Given the description of an element on the screen output the (x, y) to click on. 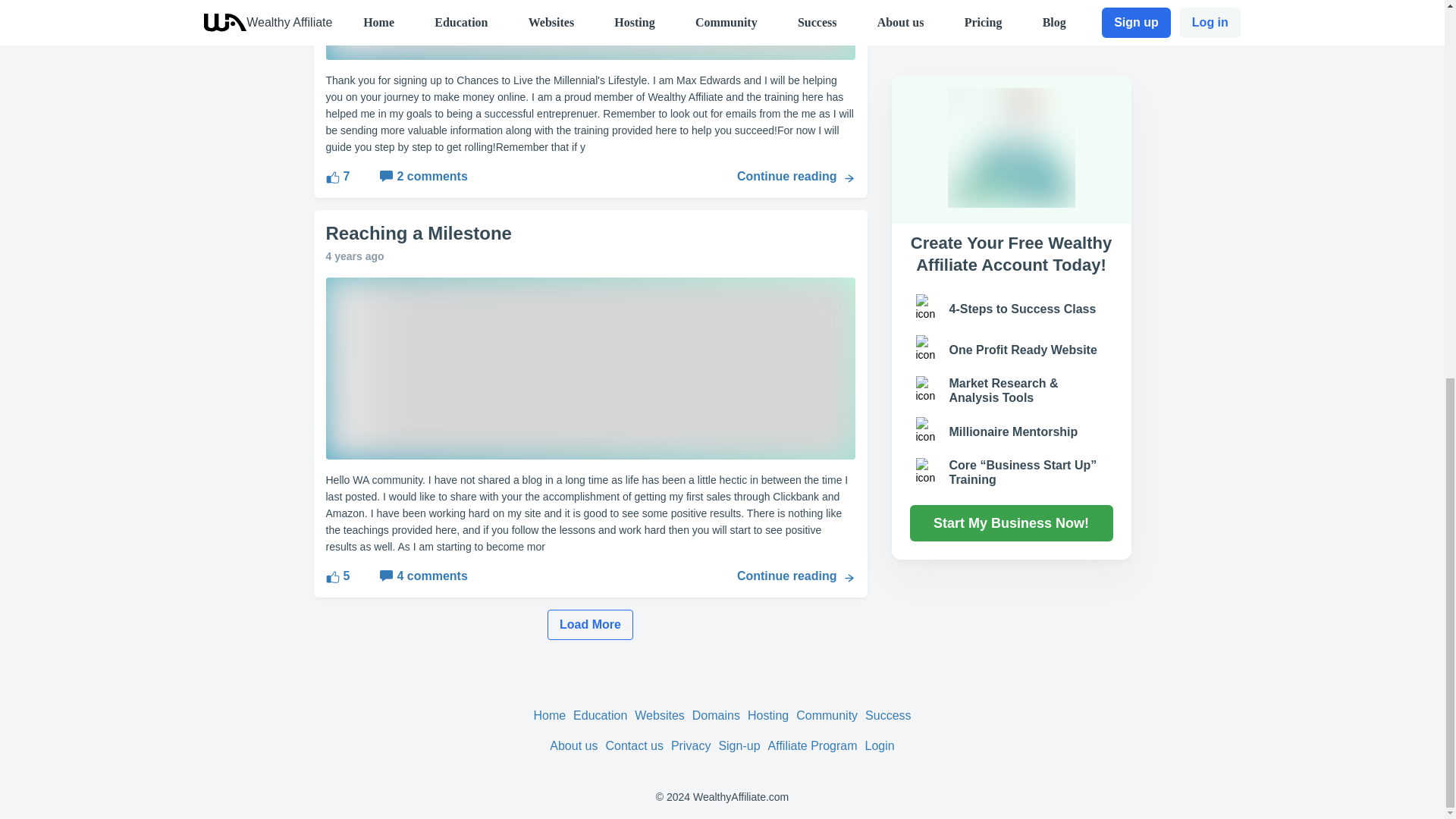
Domains (716, 715)
Reaching a Milestone (591, 232)
Home (549, 715)
Tue, 09 Jun 2020 23:07:18 GMT (355, 256)
Load More (590, 624)
Continue reading (796, 176)
5 (338, 576)
Education (600, 715)
4 comments (408, 576)
7 (338, 176)
Continue reading (796, 576)
2 comments (408, 176)
Websites (659, 715)
